Given the description of an element on the screen output the (x, y) to click on. 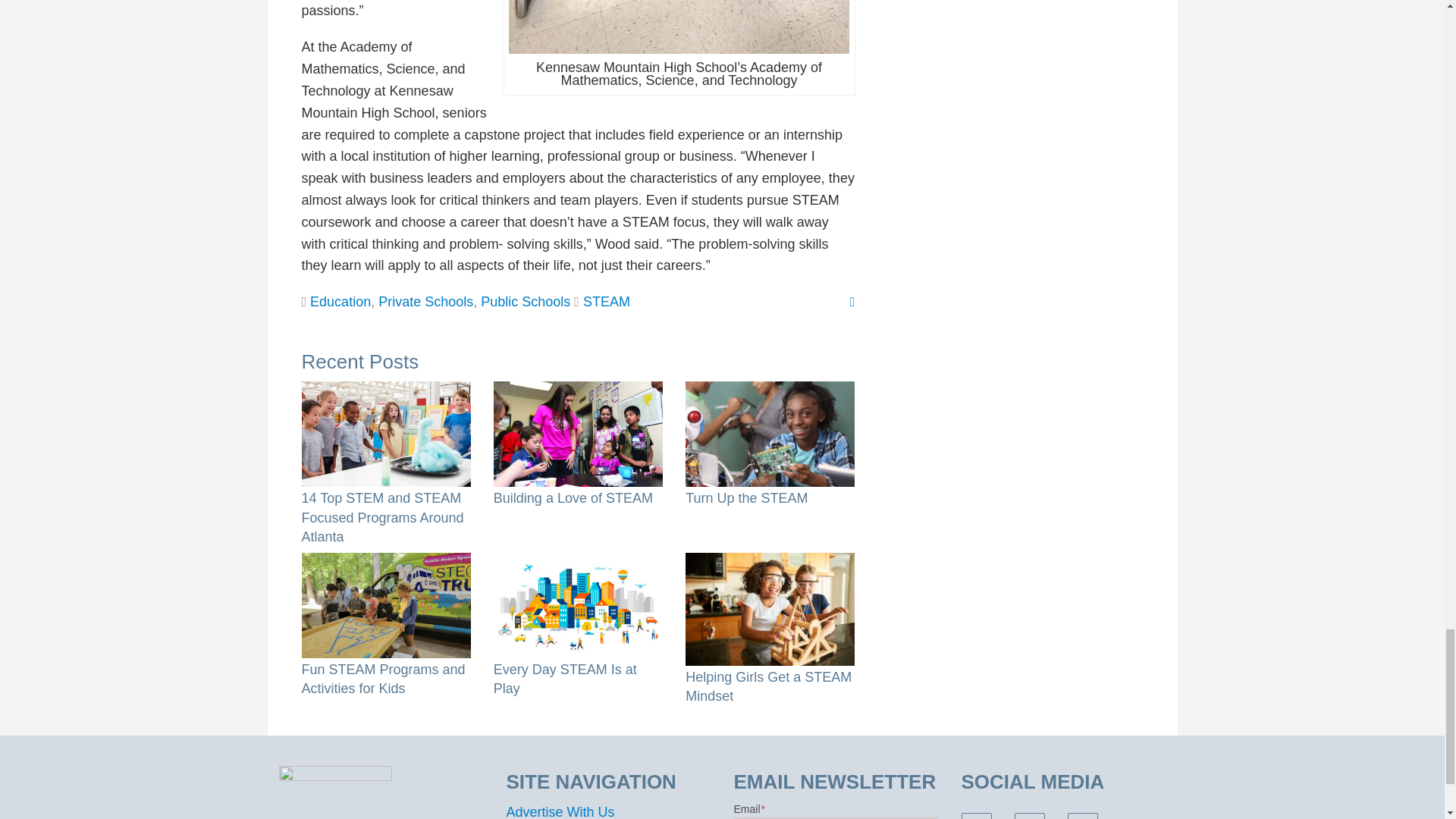
Atlanta Parent (335, 789)
